Given the description of an element on the screen output the (x, y) to click on. 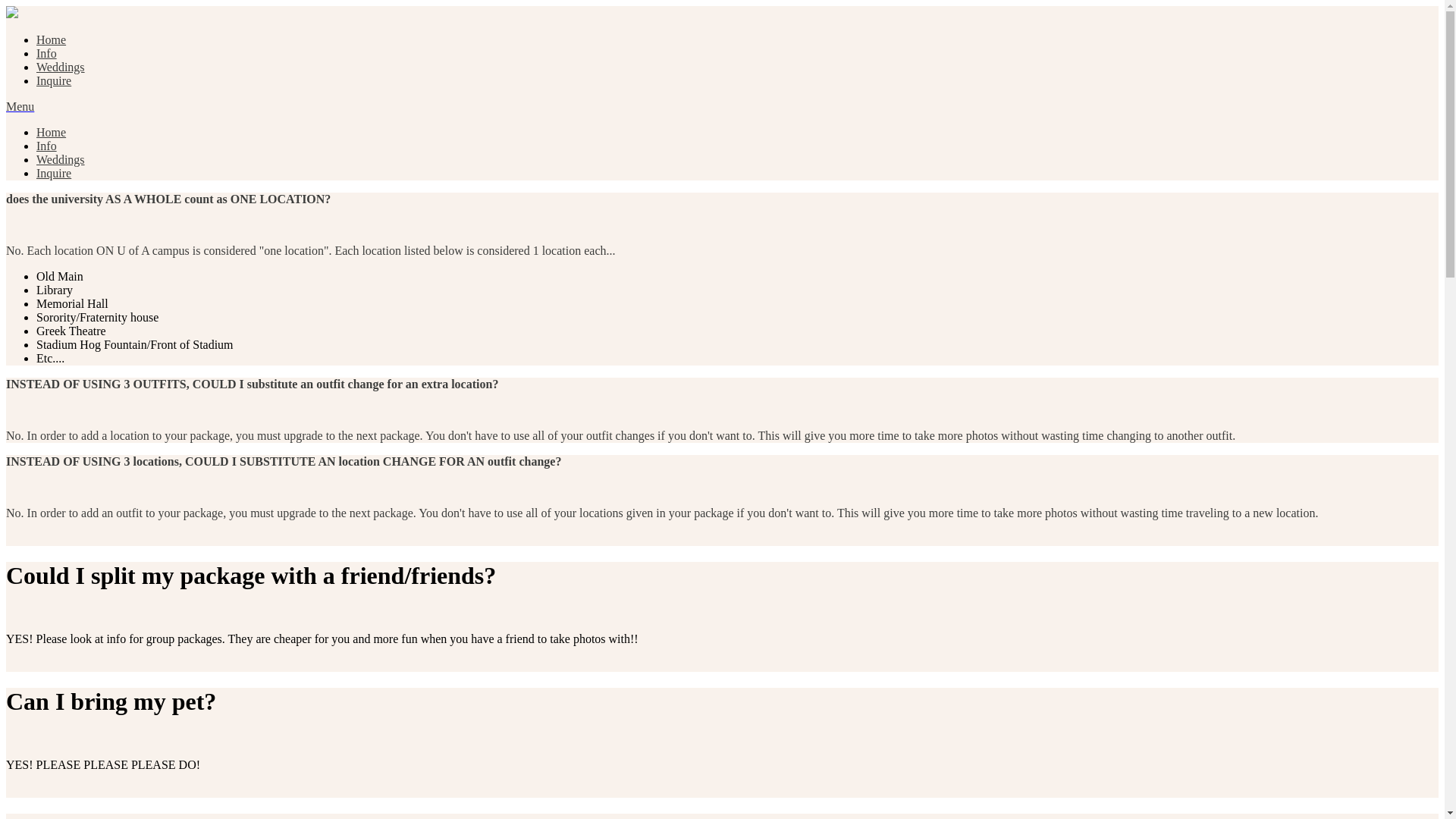
Inquire (53, 173)
Weddings (60, 66)
Weddings (60, 159)
Home (50, 132)
Info (46, 145)
Info (46, 52)
Inquire (53, 80)
Menu (19, 106)
Home (50, 39)
